Given the description of an element on the screen output the (x, y) to click on. 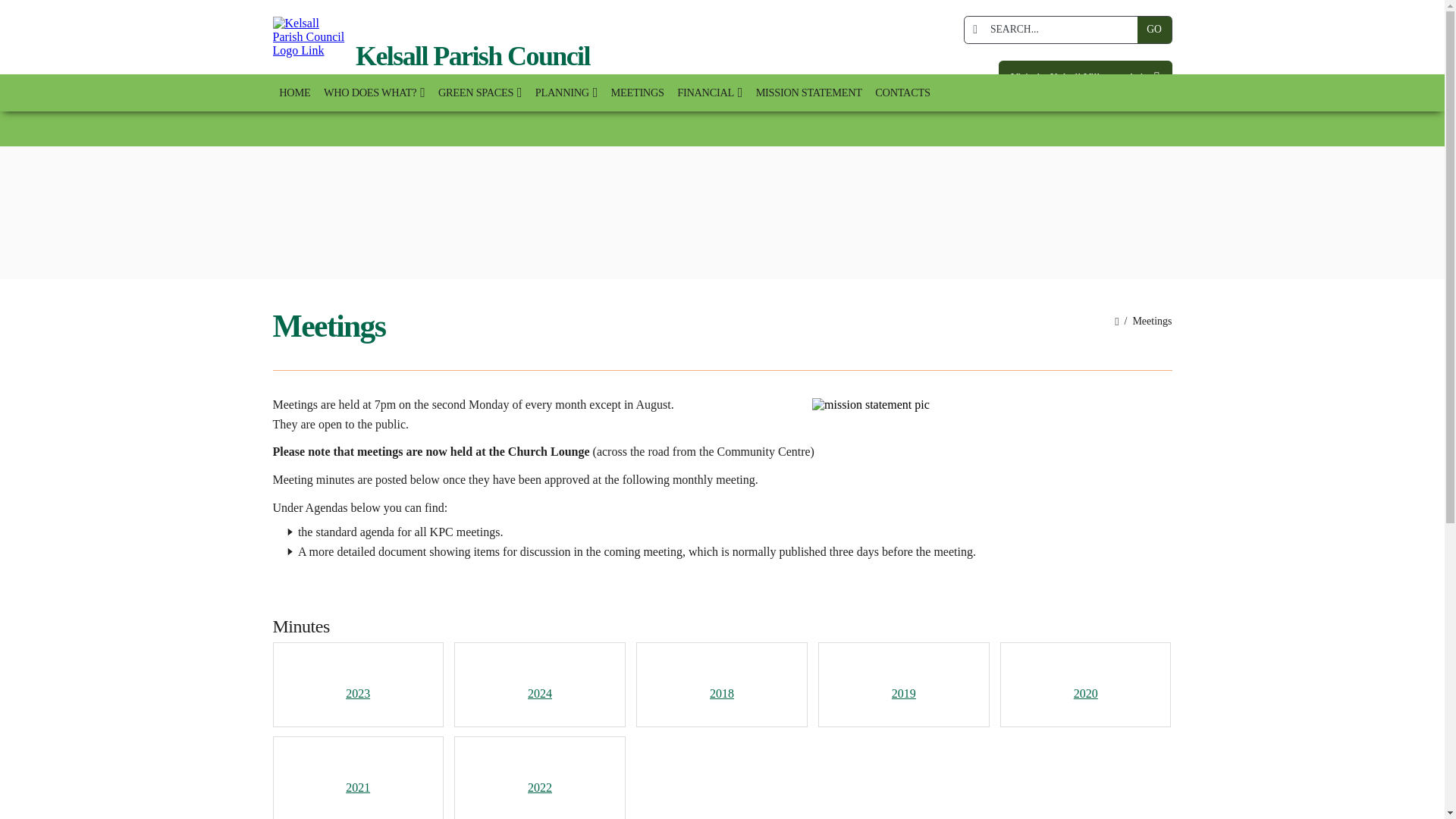
Open folder: 2021 (357, 772)
Open folder: 2020 (1085, 678)
WHO DOES WHAT? (373, 92)
Open folder: 2024 (539, 678)
FINANCIAL (708, 92)
2019 (903, 678)
GREEN SPACES (479, 92)
2018 (721, 678)
CONTACTS (903, 92)
MISSION STATEMENT (809, 92)
GO (1154, 29)
Open folder: 2019 (903, 678)
2022 (539, 772)
2021 (357, 772)
Open folder: 2018 (721, 678)
